Given the description of an element on the screen output the (x, y) to click on. 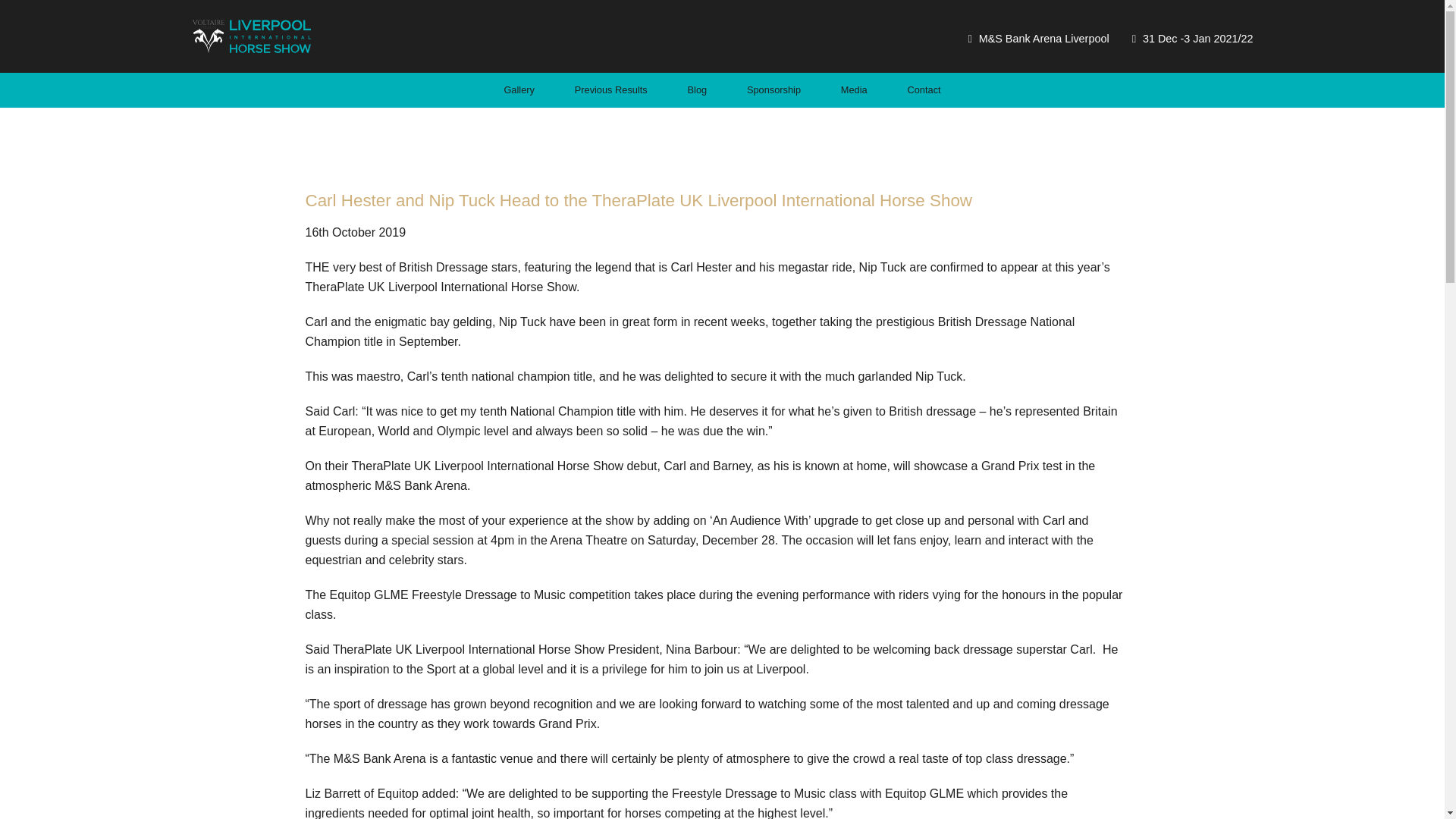
Sponsorship (773, 89)
Media (854, 89)
Previous Results (611, 89)
Blog (697, 89)
Gallery (518, 89)
Contact (923, 89)
